Given the description of an element on the screen output the (x, y) to click on. 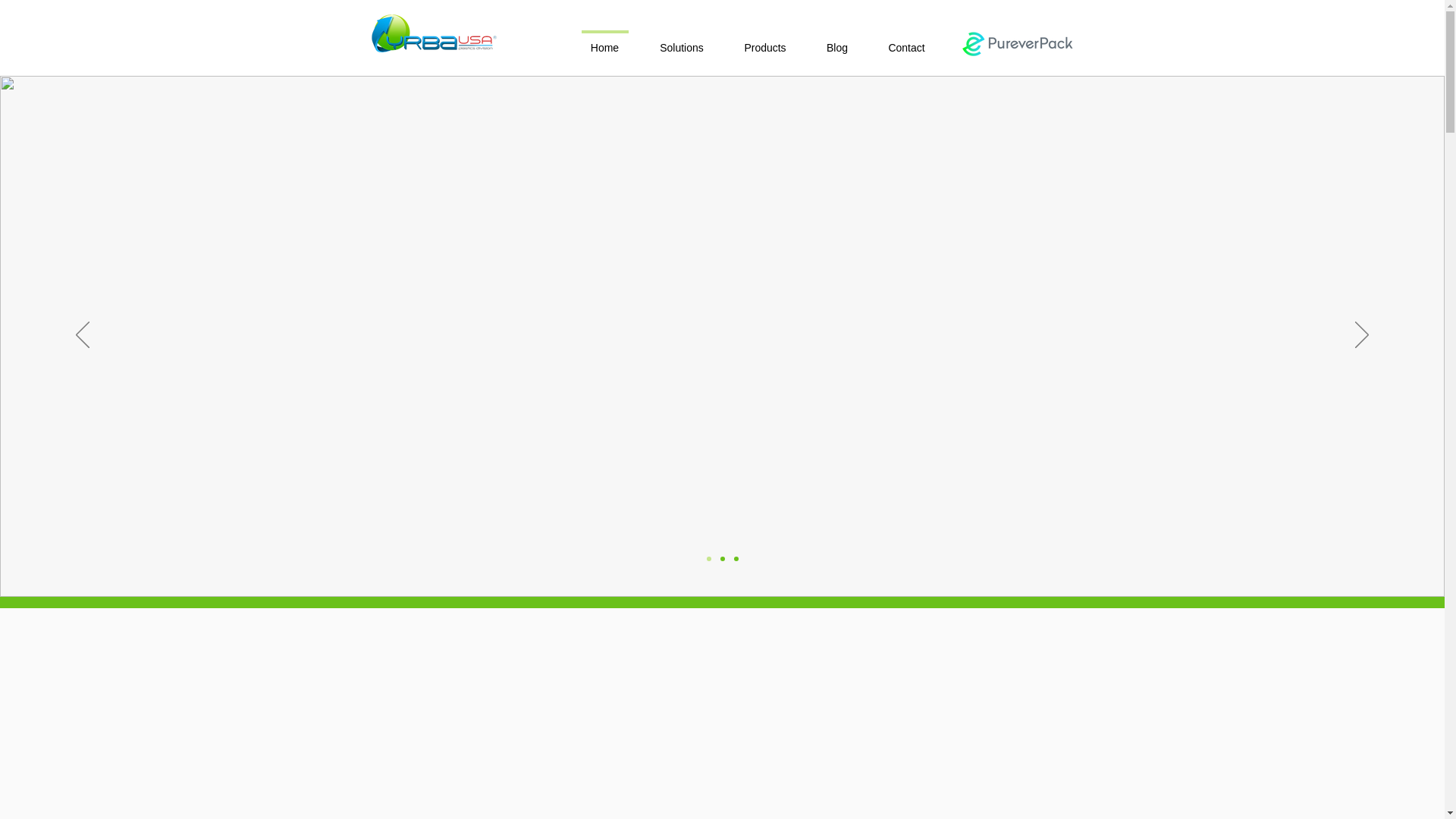
Transparent Background PureverPack.png (1016, 43)
Blog (836, 41)
Contact (905, 41)
Home (605, 41)
Products (764, 41)
